Given the description of an element on the screen output the (x, y) to click on. 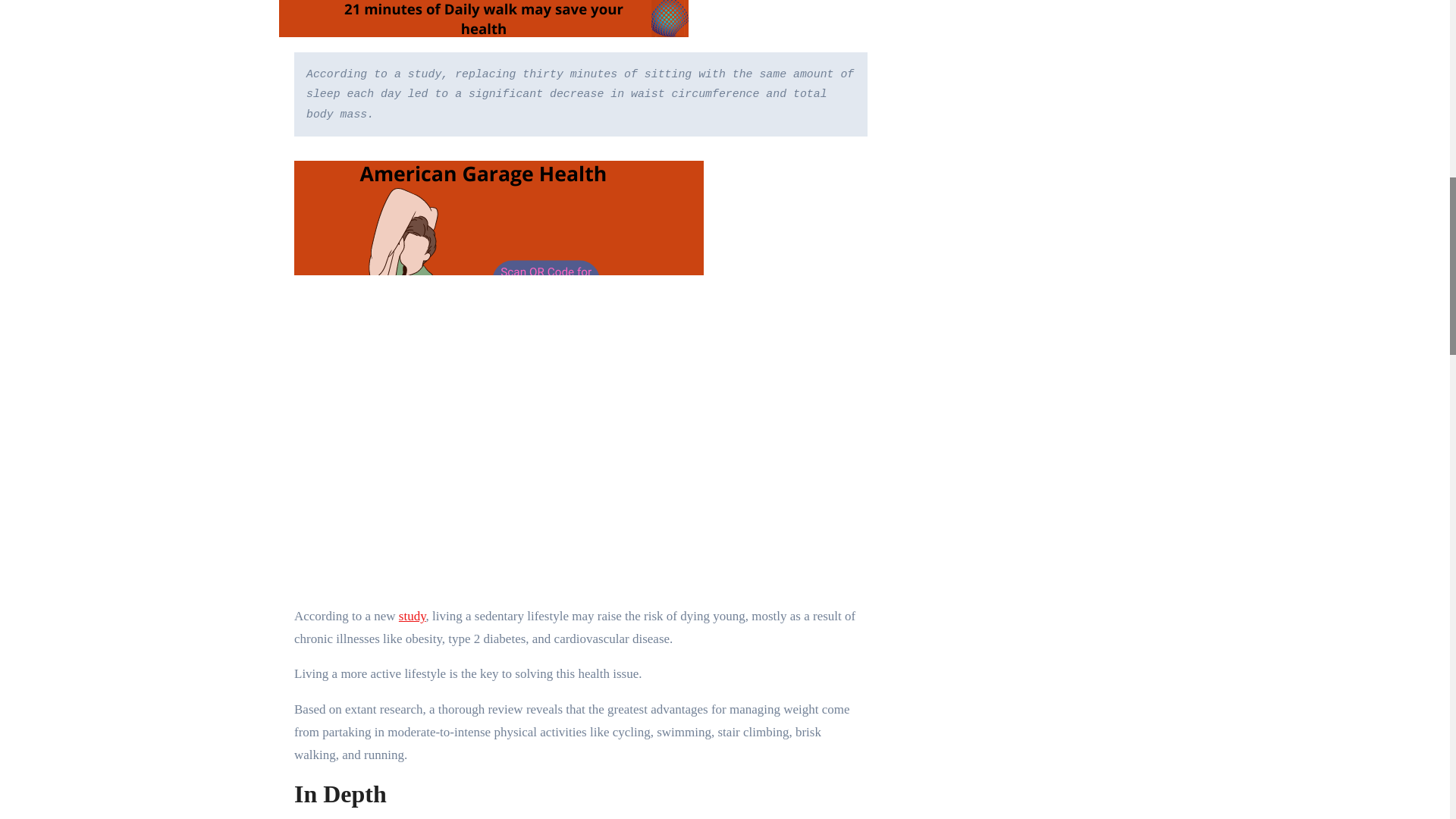
study (412, 616)
